Given the description of an element on the screen output the (x, y) to click on. 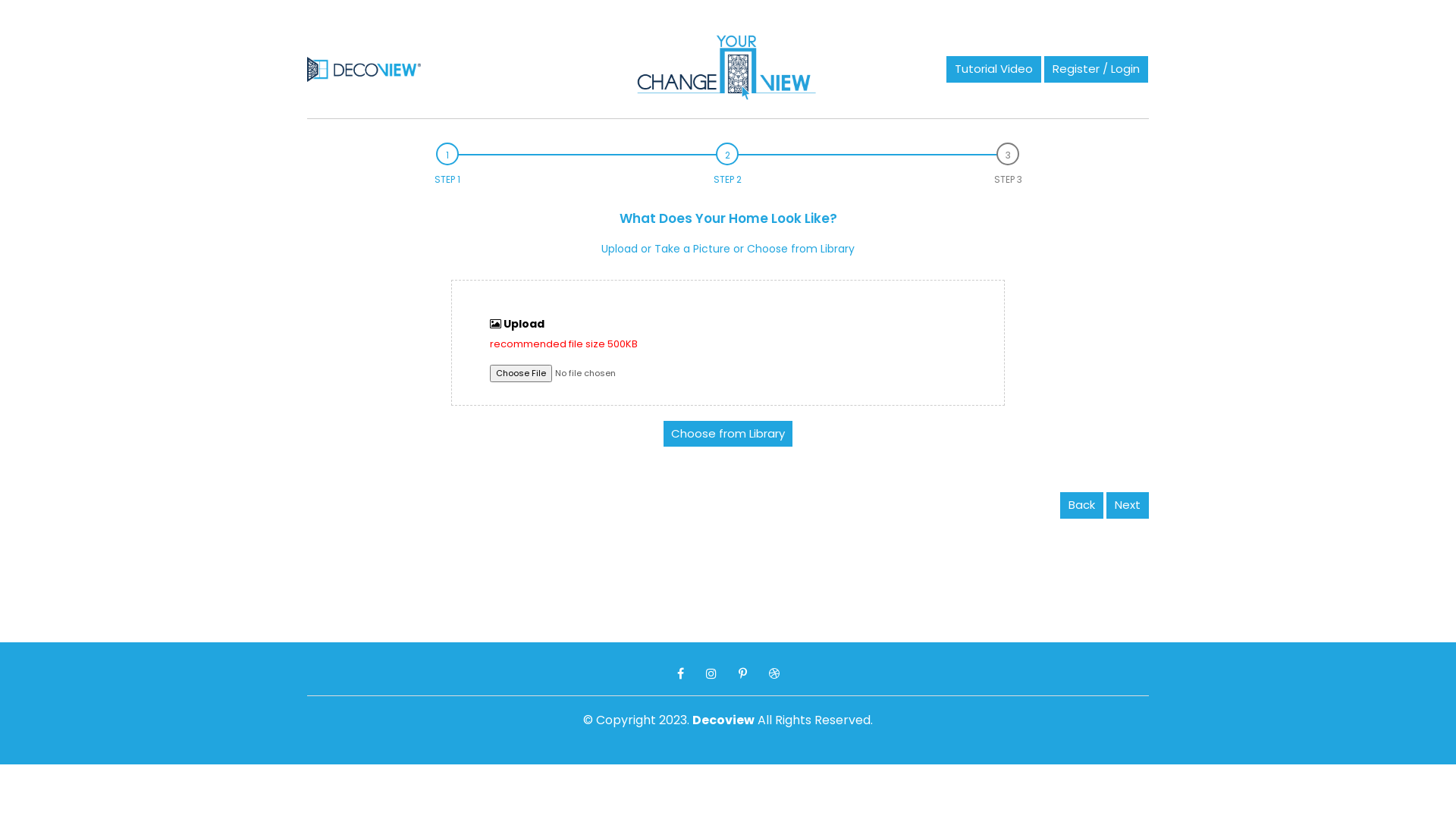
Back Element type: text (1081, 505)
Choose from Library Element type: text (727, 433)
Back Element type: text (1083, 504)
Tutorial Video Element type: text (993, 69)
Next Element type: text (1127, 505)
Next Element type: text (1127, 504)
Register / Login Element type: text (1096, 69)
